Given the description of an element on the screen output the (x, y) to click on. 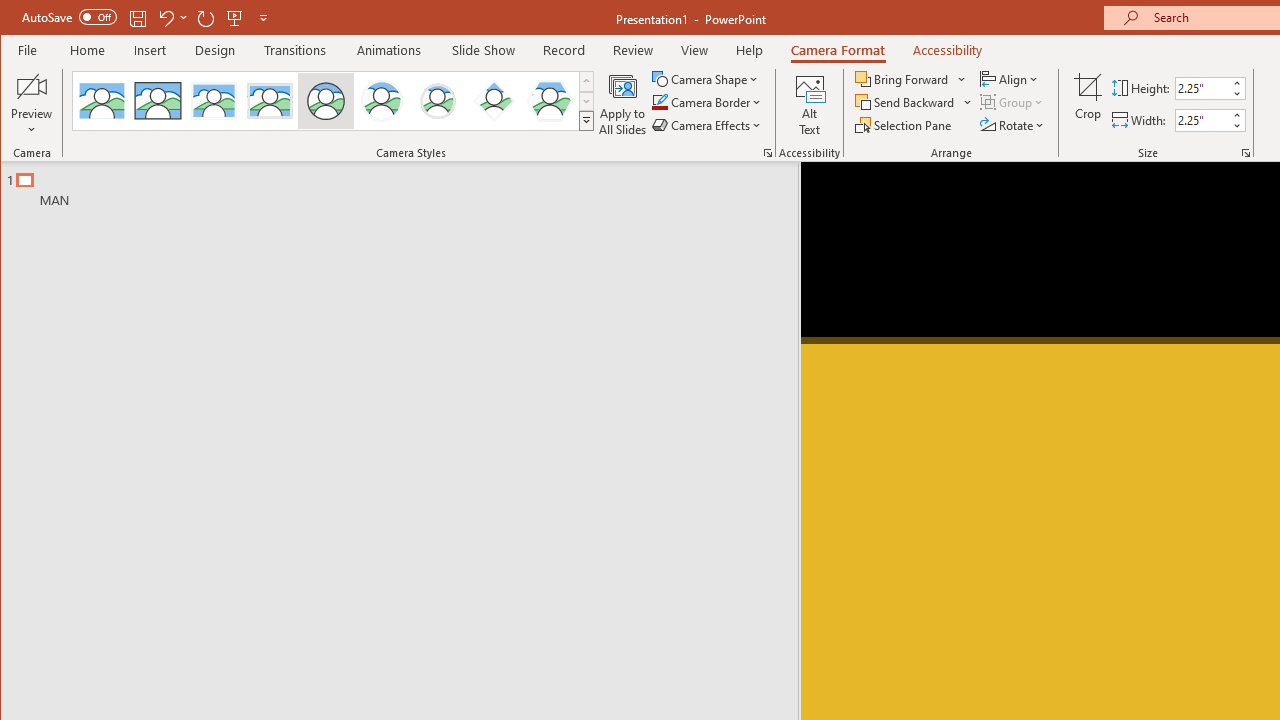
Size and Position... (1245, 152)
Send Backward (906, 101)
Align (1010, 78)
Simple Frame Rectangle (157, 100)
Bring Forward (903, 78)
Simple Frame Circle (326, 100)
Camera Effects (708, 124)
AutomationID: CameoStylesGallery (333, 101)
